Given the description of an element on the screen output the (x, y) to click on. 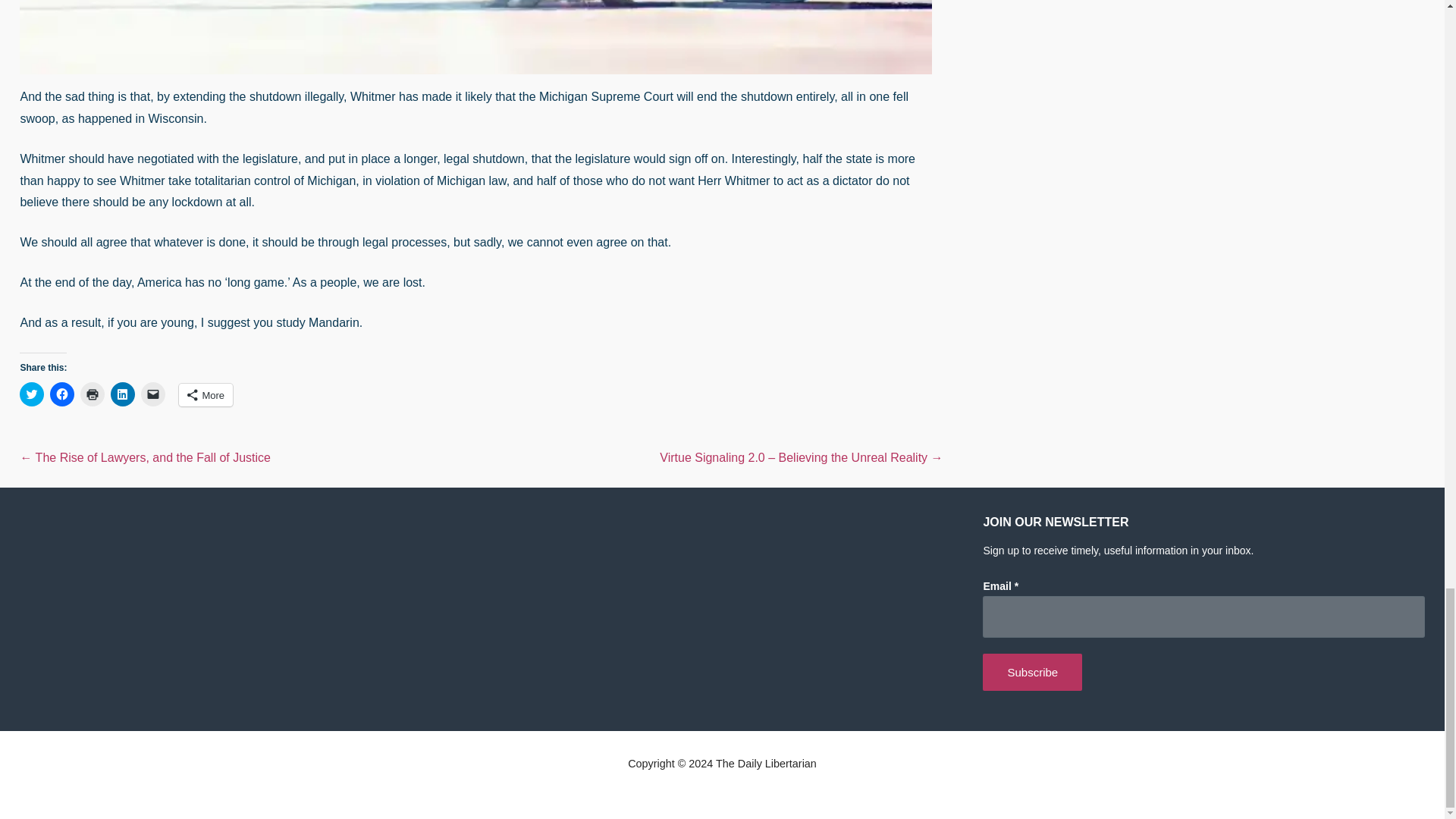
Subscribe (1031, 672)
Click to share on Twitter (31, 394)
Click to email a link to a friend (153, 394)
Click to print (92, 394)
More (205, 395)
Click to share on LinkedIn (122, 394)
Click to share on Facebook (61, 394)
